Given the description of an element on the screen output the (x, y) to click on. 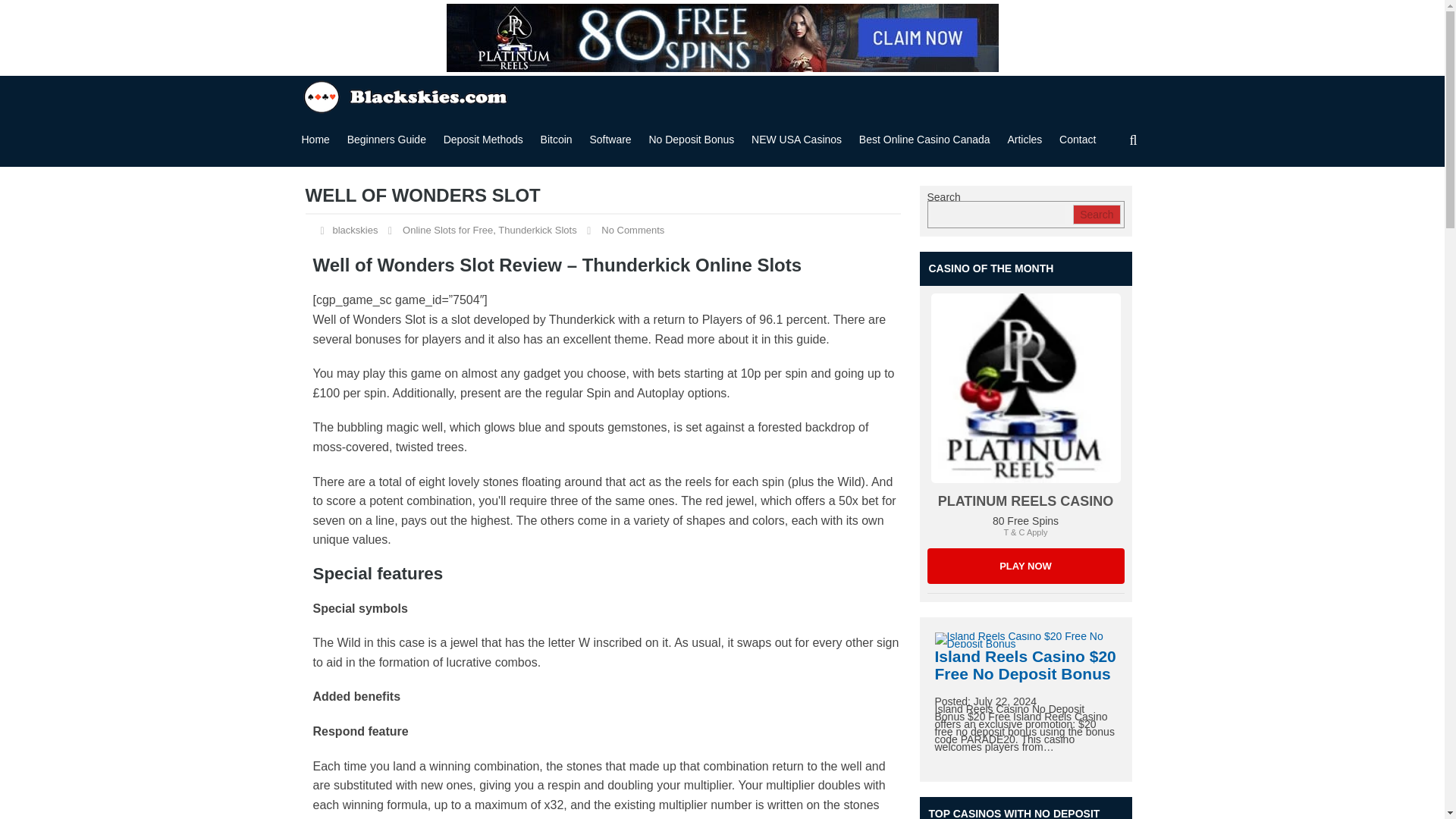
PLATINUM REELS CASINO (1025, 500)
PLATINUM REELS CASINO (1025, 565)
PLATINUM REELS CASINO (1025, 388)
Home (315, 139)
No Deposit Bonus (721, 38)
Deposit Methods (483, 139)
Online Casino No Deposit Bonus Codes Usa 2024 (407, 94)
PLATINUM REELS CASINO (1026, 388)
Beginners Guide (386, 139)
Posts by blackskies (354, 229)
